Given the description of an element on the screen output the (x, y) to click on. 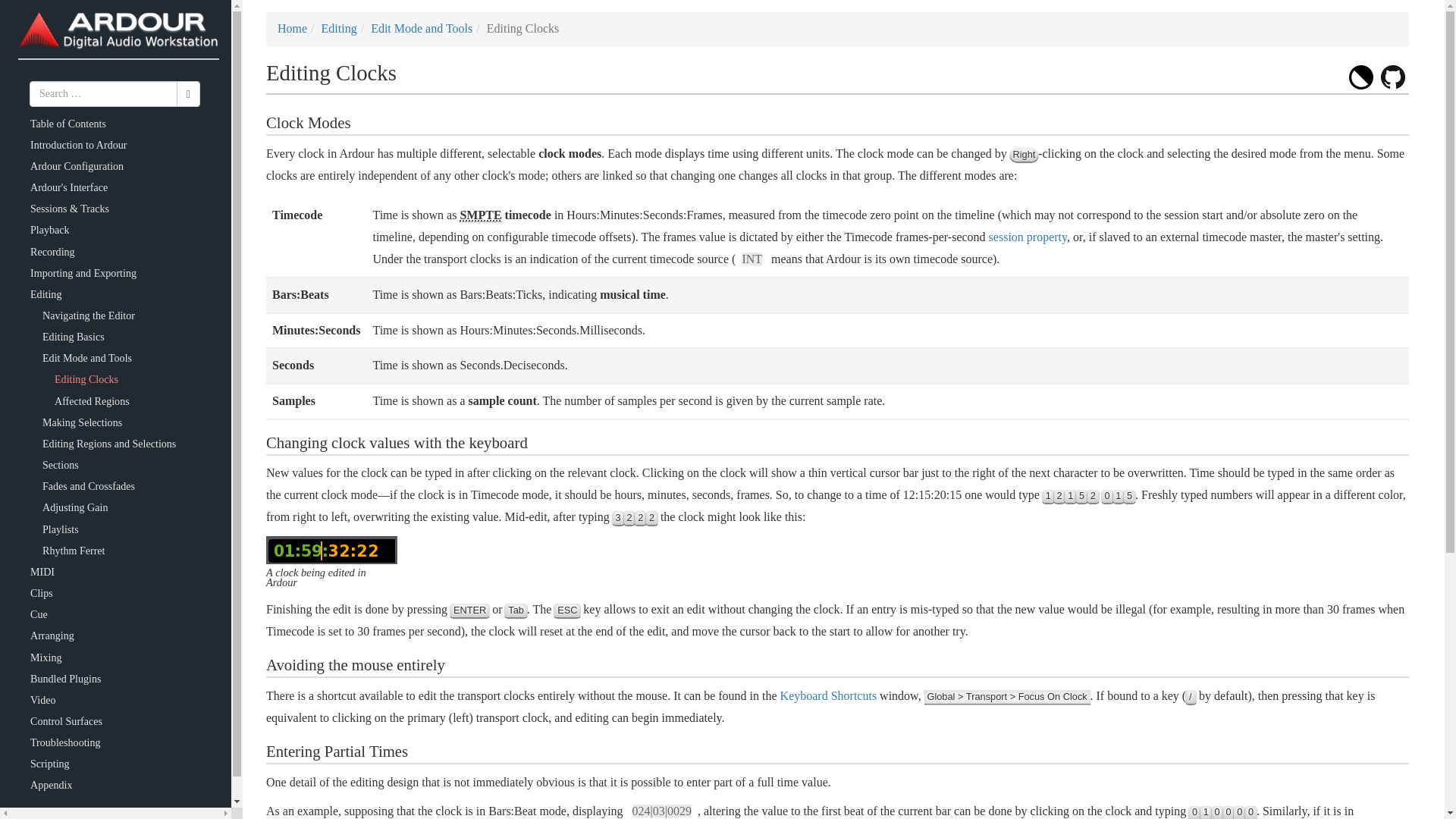
Appendix (51, 784)
Scripting (49, 763)
Ardour Configuration (76, 165)
Editing Clocks (86, 379)
Recording (52, 251)
Edit Mode and Tools (87, 358)
Ardour's Interface (68, 187)
Adjusting Gain (74, 507)
Home (292, 28)
Fades and Crossfades (88, 486)
Society of Motion Picture and Television Engineers (480, 214)
Importing and Exporting (83, 273)
session property (1027, 236)
Edit Mode and Tools (421, 28)
Edit in GitHub (1392, 77)
